Given the description of an element on the screen output the (x, y) to click on. 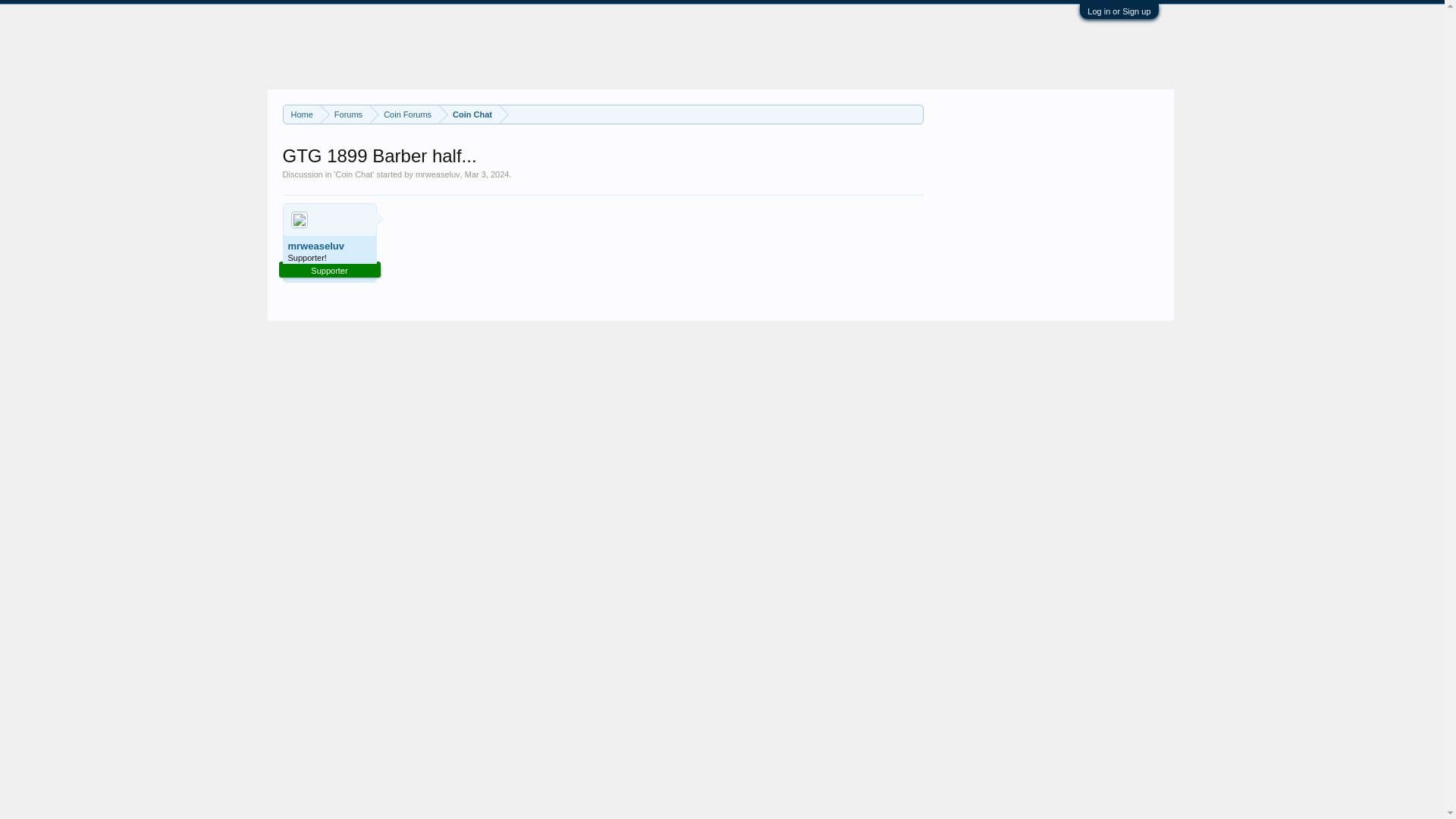
Coin Chat (469, 114)
Open quick navigation (913, 113)
mrweaseluv (329, 246)
Home (301, 114)
mrweaseluv (437, 174)
Mar 3, 2024 at 8:20 PM (486, 174)
Coin Forums (404, 114)
Mar 3, 2024 (486, 174)
Forums (344, 114)
Log in or Sign up (1118, 10)
